Given the description of an element on the screen output the (x, y) to click on. 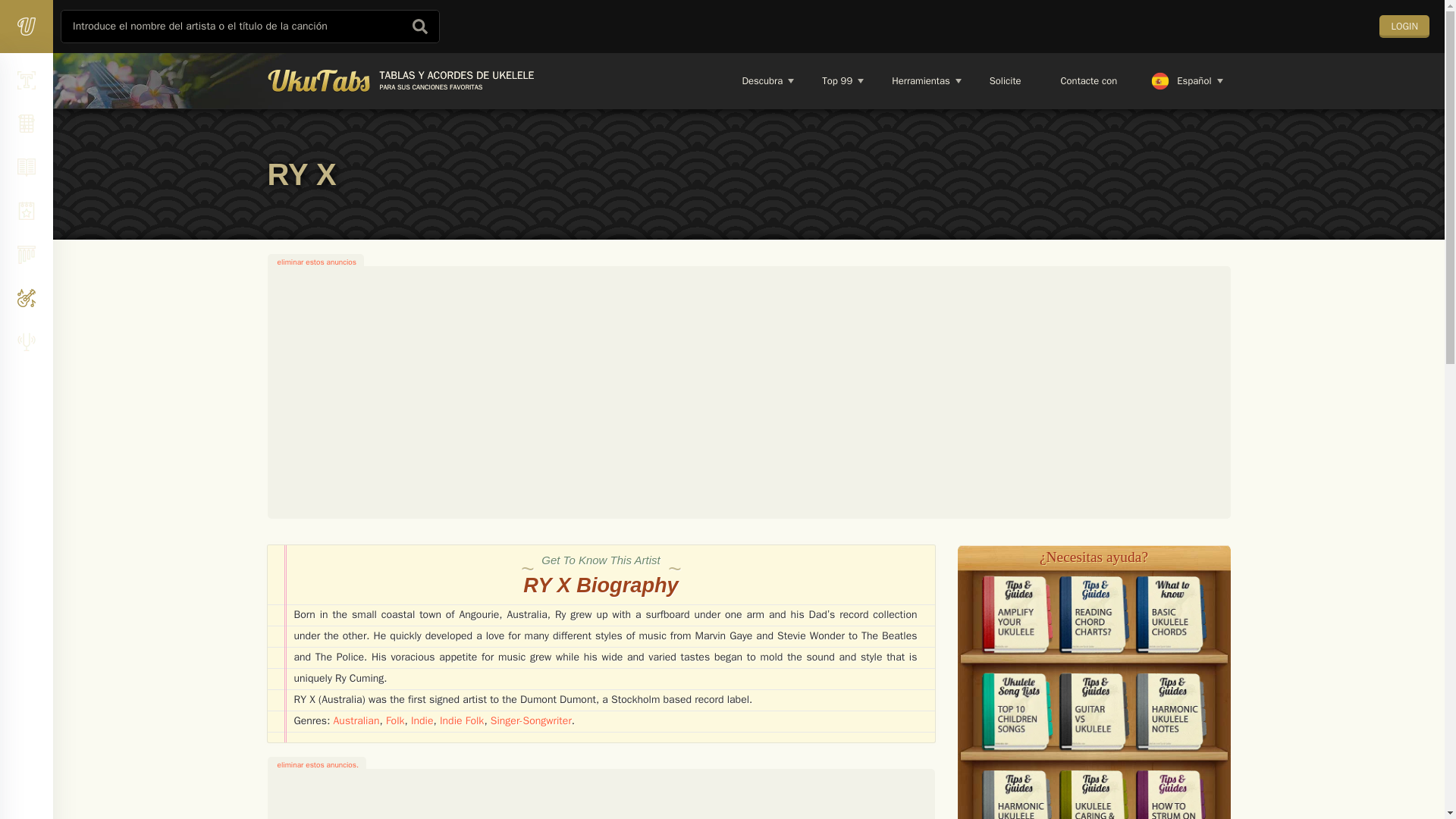
Las 99 mejores canciones en UkuTabs (836, 80)
descubre las canciones para ukelele (761, 80)
herramientas de ukelele (919, 80)
Top 99 (836, 80)
LOGIN (1403, 26)
Descubra (400, 80)
